Given the description of an element on the screen output the (x, y) to click on. 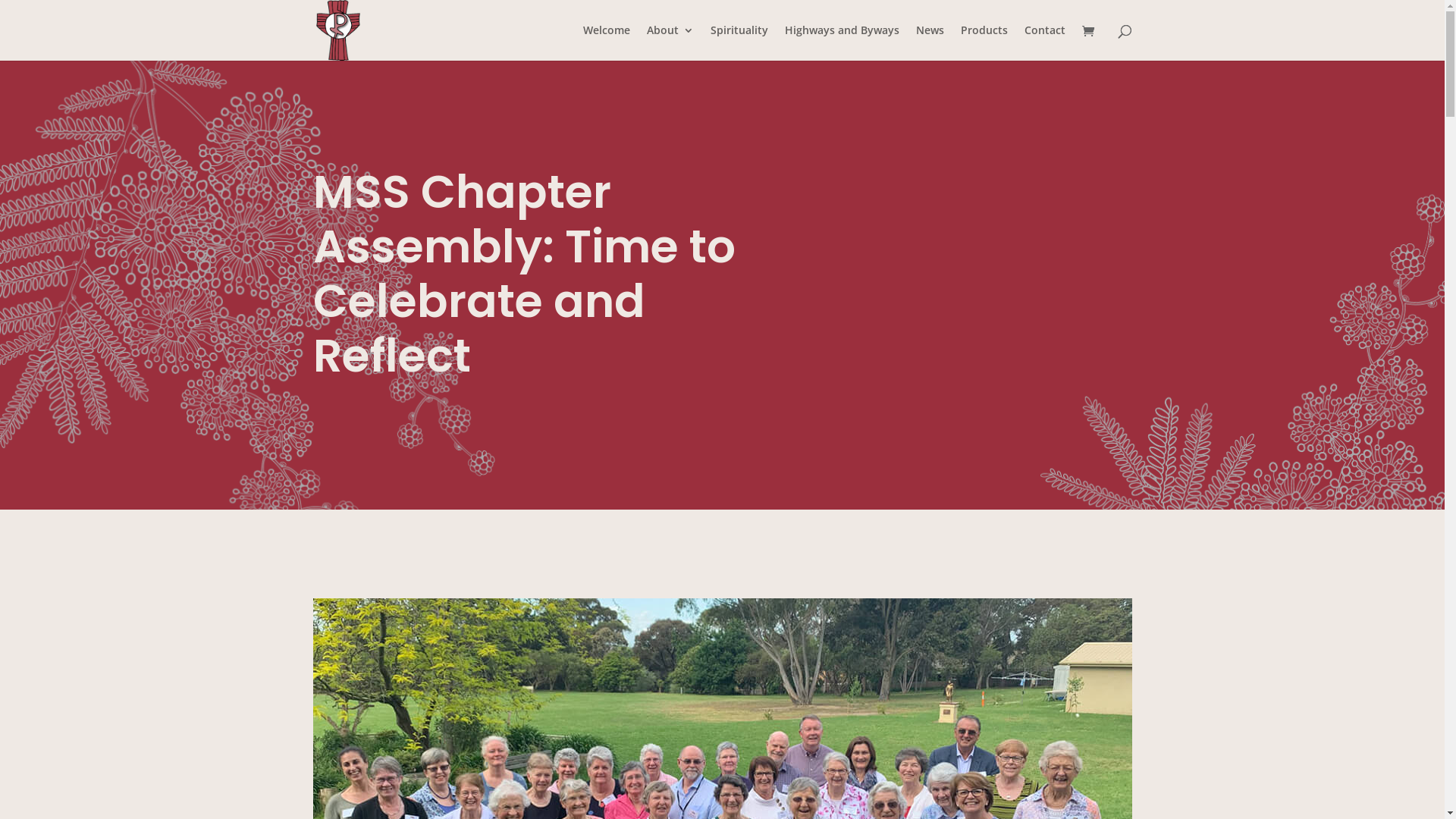
News Element type: text (930, 42)
Products Element type: text (983, 42)
About Element type: text (669, 42)
Highways and Byways Element type: text (841, 42)
Spirituality Element type: text (738, 42)
Contact Element type: text (1043, 42)
Welcome Element type: text (605, 42)
